Given the description of an element on the screen output the (x, y) to click on. 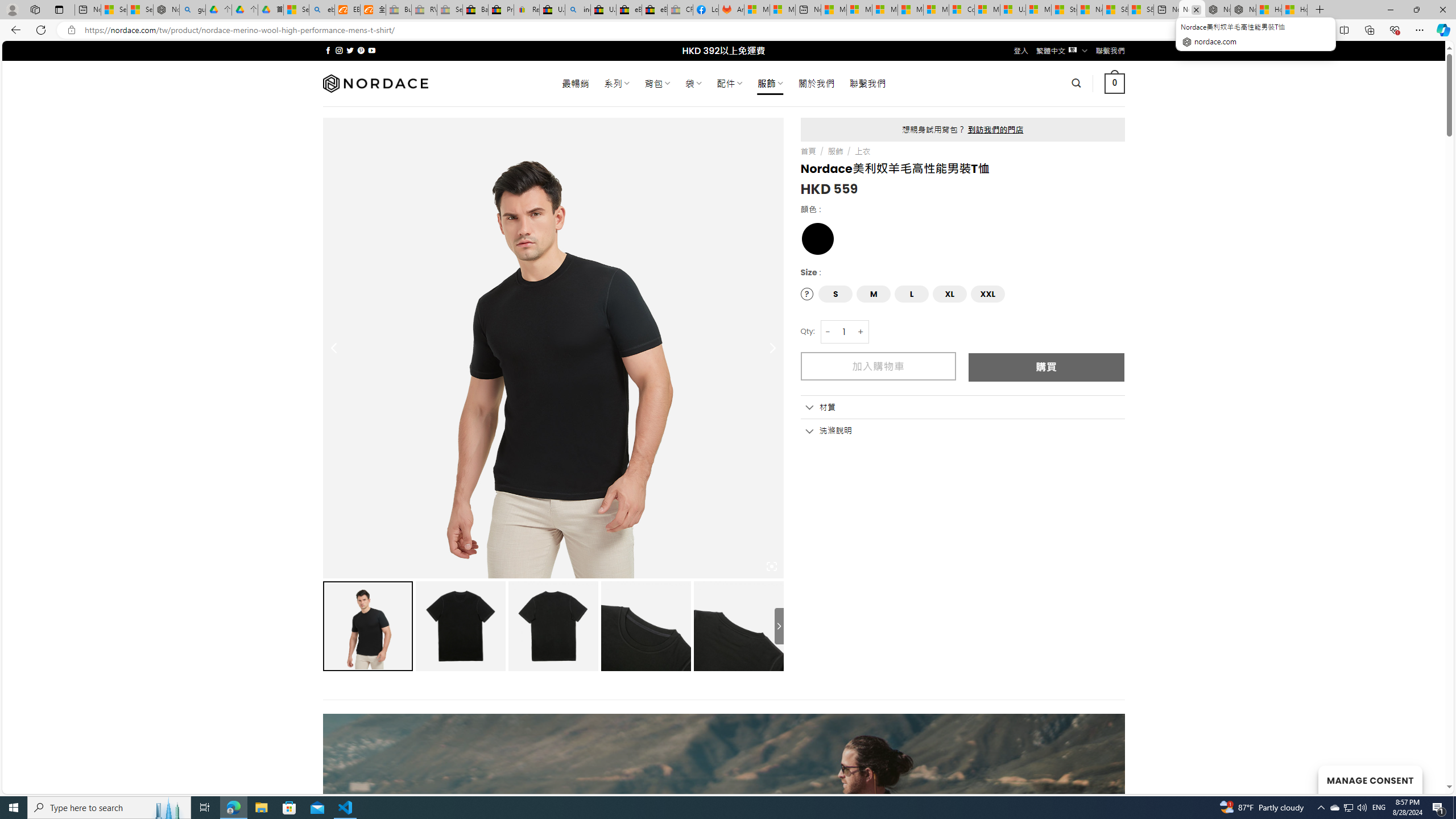
Microsoft account | Privacy (858, 9)
  0   (1115, 83)
? (806, 293)
Refresh (40, 29)
eBay Inc. Reports Third Quarter 2023 Results (654, 9)
Follow on Twitter (349, 50)
Personal Profile (12, 9)
App bar (728, 29)
Microsoft account | Home (884, 9)
Follow on Facebook (327, 50)
Log into Facebook (705, 9)
